Given the description of an element on the screen output the (x, y) to click on. 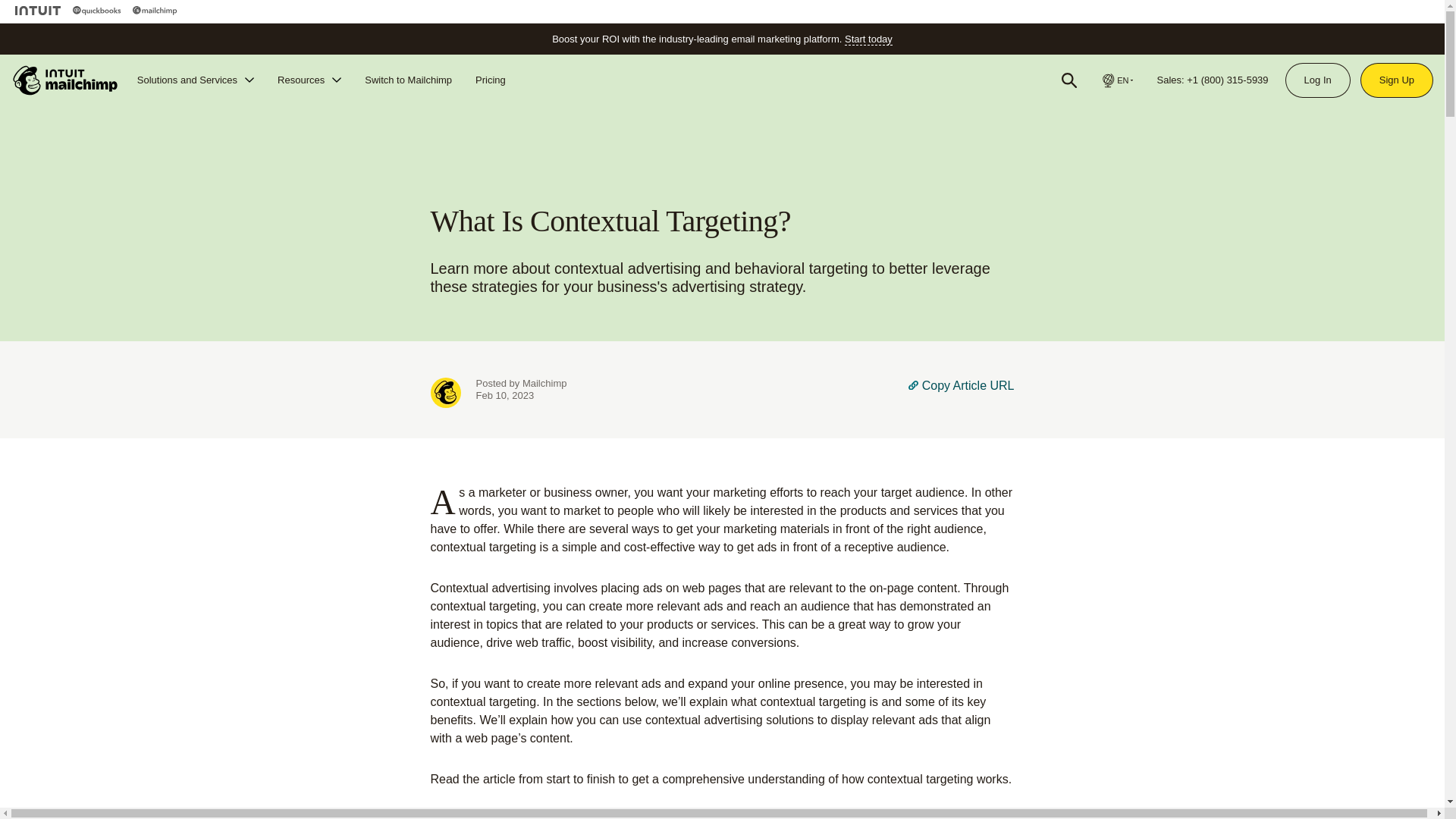
Start today (868, 39)
Resources (308, 79)
Log In (1317, 80)
Pricing (490, 79)
Copy Article URL (960, 392)
Search (1069, 80)
Solutions and Services (195, 79)
Switch to Mailchimp (408, 79)
Copy URL to clipboard. (960, 392)
Sign Up (1396, 80)
